Given the description of an element on the screen output the (x, y) to click on. 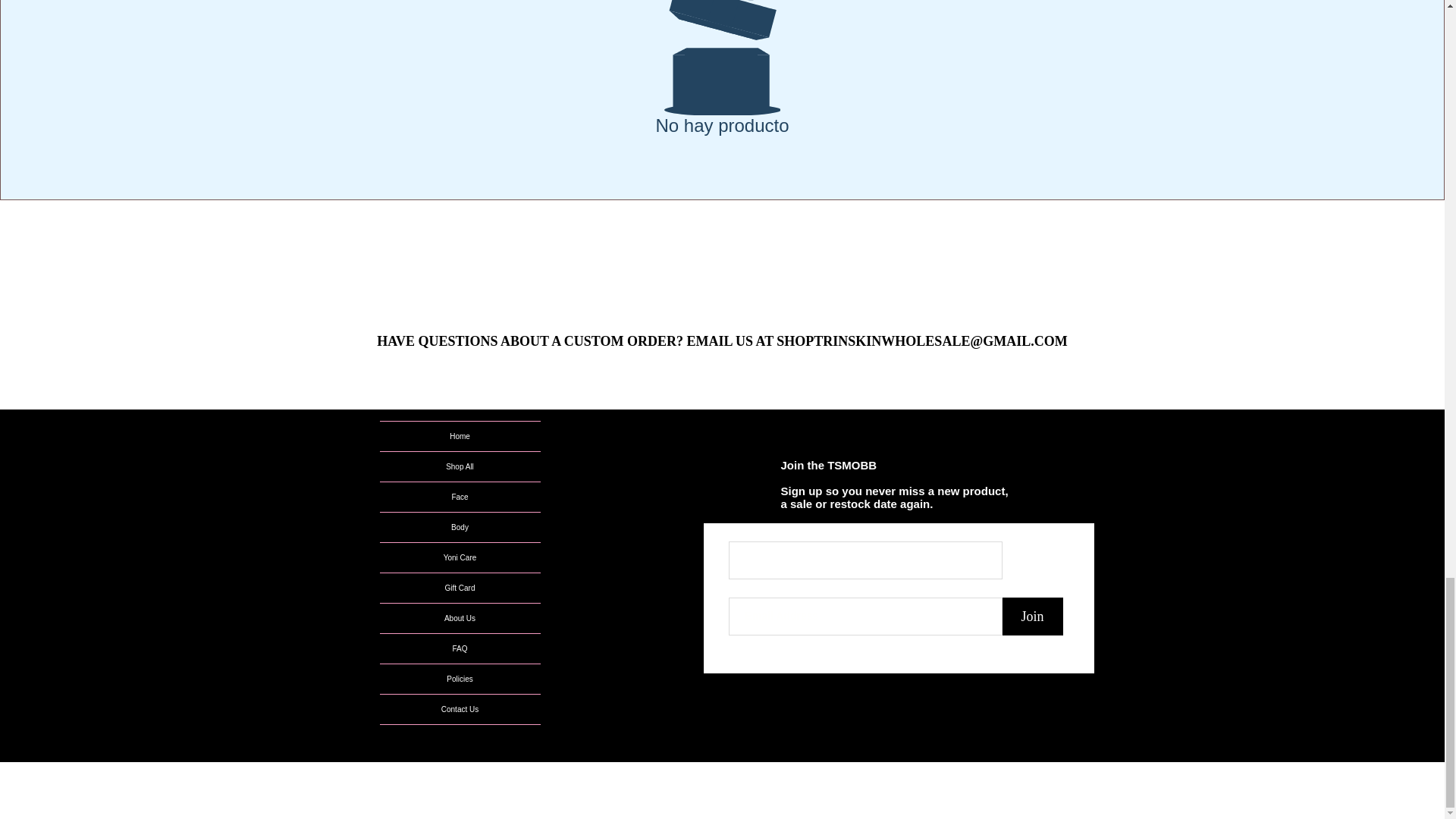
Body (459, 527)
Shop All (459, 466)
Face (459, 496)
Home (459, 436)
